Given the description of an element on the screen output the (x, y) to click on. 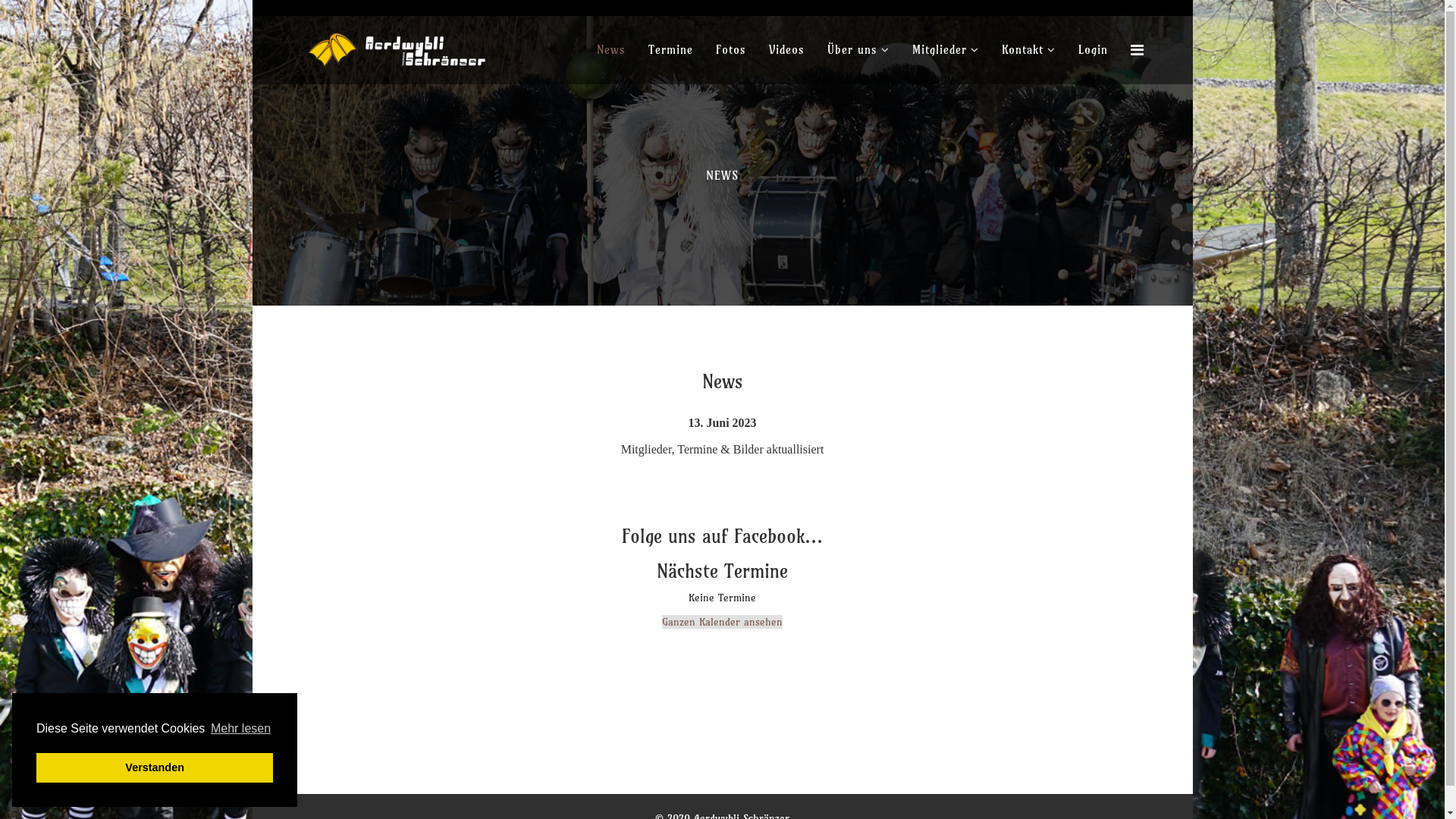
Login Element type: text (1092, 49)
Mehr lesen Element type: text (240, 728)
News Element type: text (611, 49)
Mitglieder Element type: text (945, 49)
Termine Element type: text (670, 49)
Verstanden Element type: text (154, 767)
Videos Element type: text (785, 49)
Ganzen Kalender ansehen Element type: text (722, 621)
Kontakt Element type: text (1028, 49)
Fotos Element type: text (729, 49)
